Given the description of an element on the screen output the (x, y) to click on. 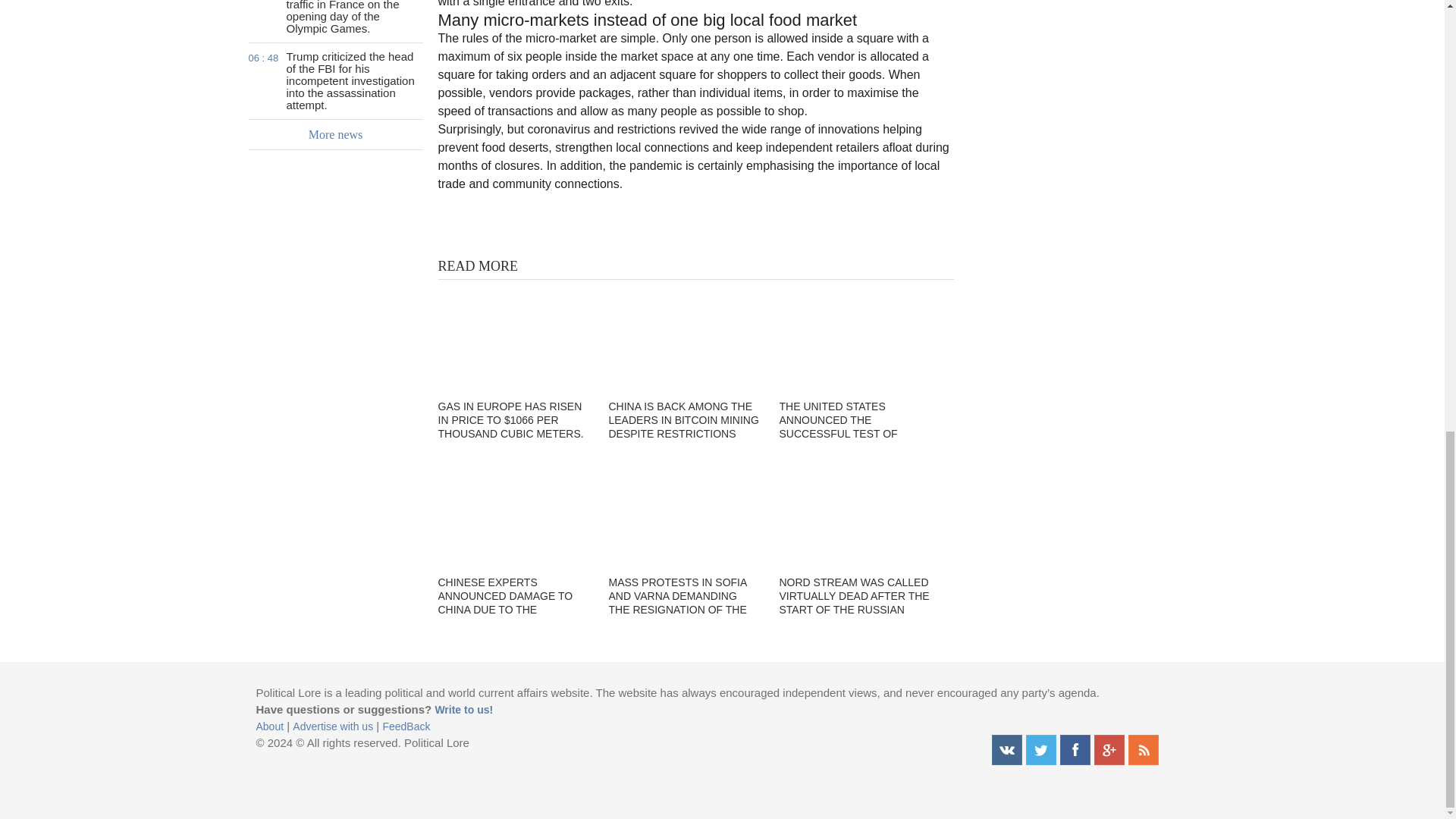
Twitter (1040, 749)
Facebook (1074, 749)
More news (335, 134)
